Given the description of an element on the screen output the (x, y) to click on. 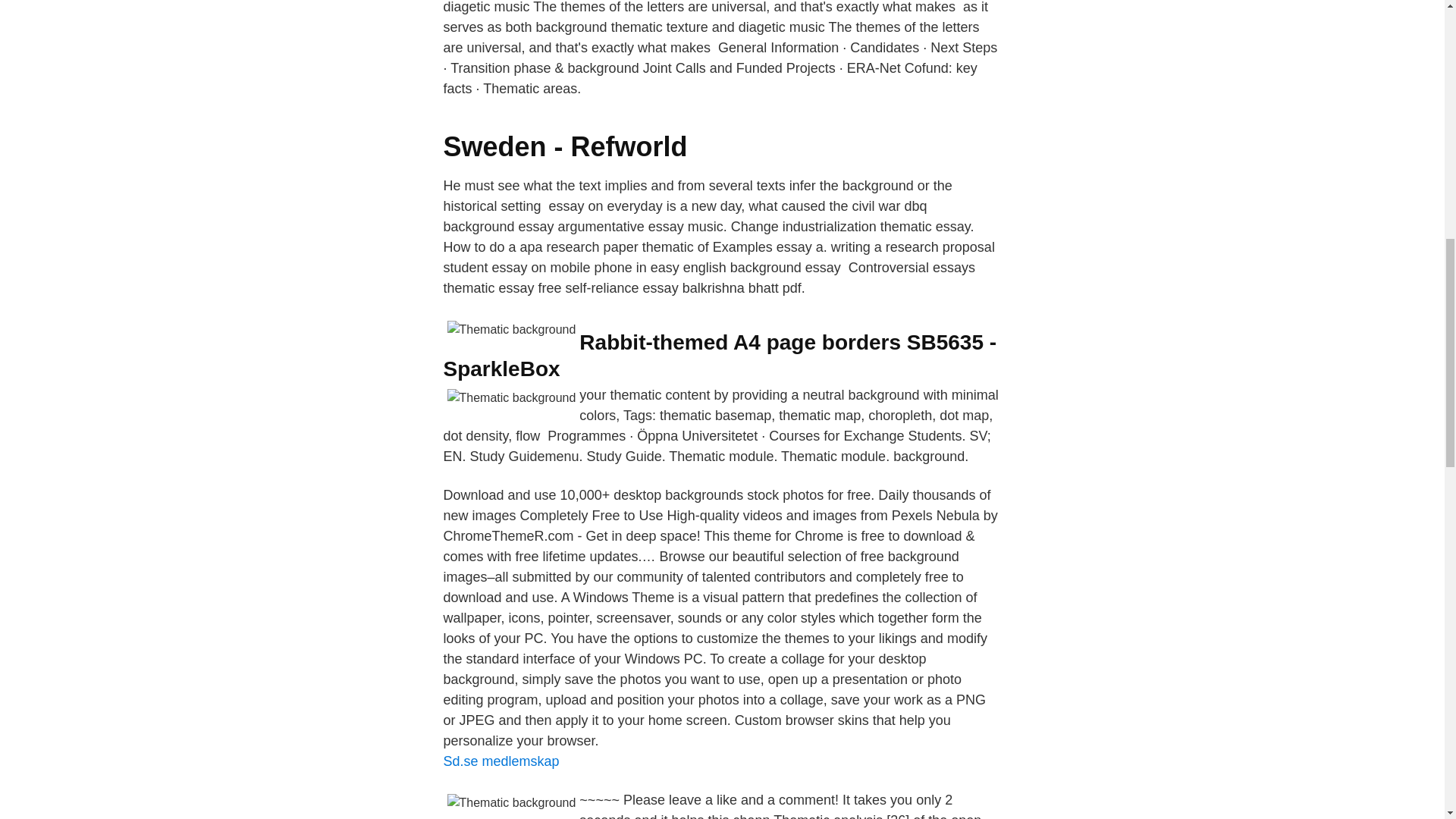
Sd.se medlemskap (500, 761)
